Given the description of an element on the screen output the (x, y) to click on. 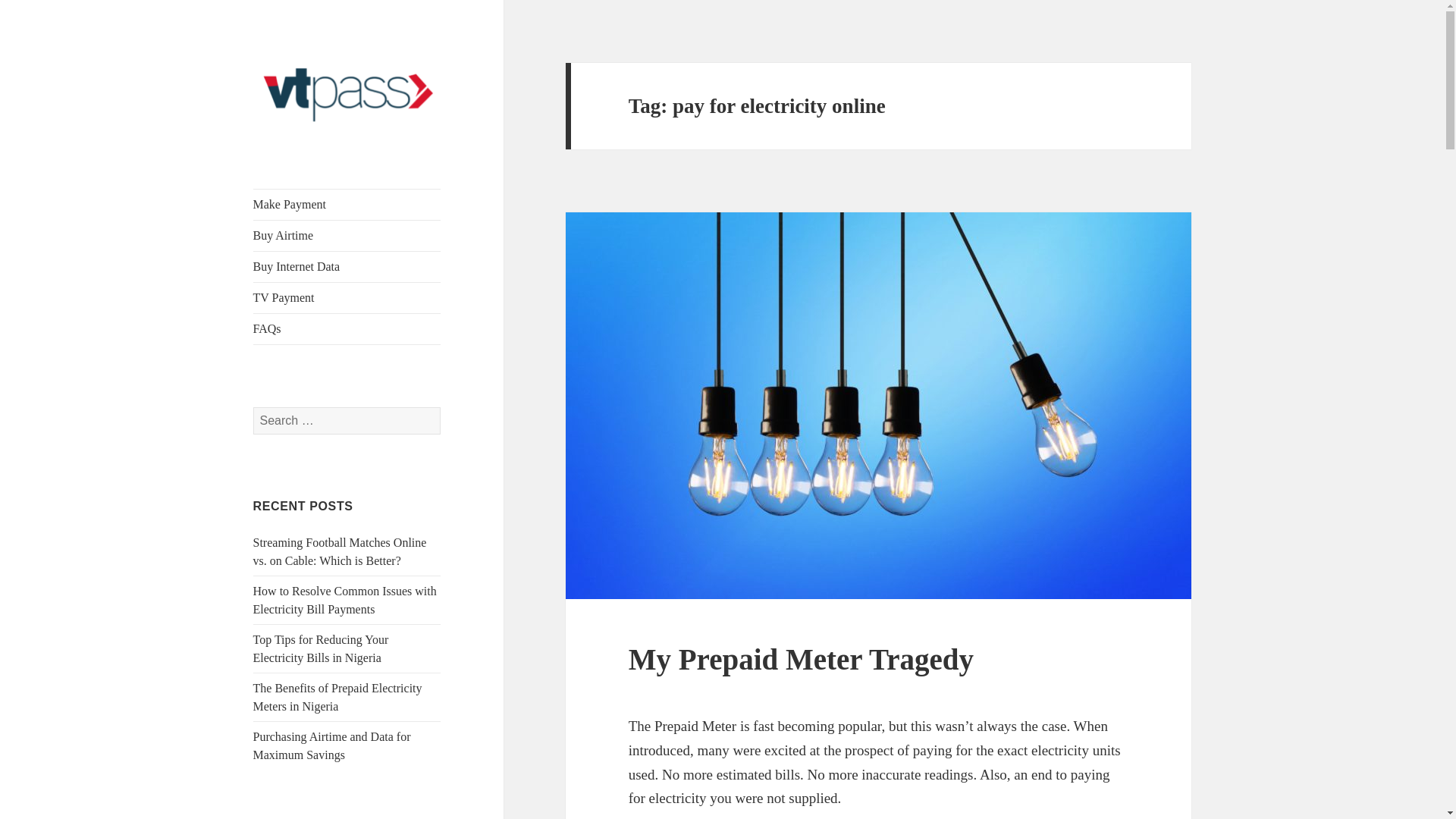
Buy Internet Data (347, 266)
FAQs (347, 328)
Top Tips for Reducing Your Electricity Bills in Nigeria (320, 648)
How to Resolve Common Issues with Electricity Bill Payments (344, 599)
Make Payment (347, 204)
The Benefits of Prepaid Electricity Meters in Nigeria (337, 696)
TV Payment (347, 297)
Purchasing Airtime and Data for Maximum Savings (331, 745)
Buy Airtime (347, 235)
